Given the description of an element on the screen output the (x, y) to click on. 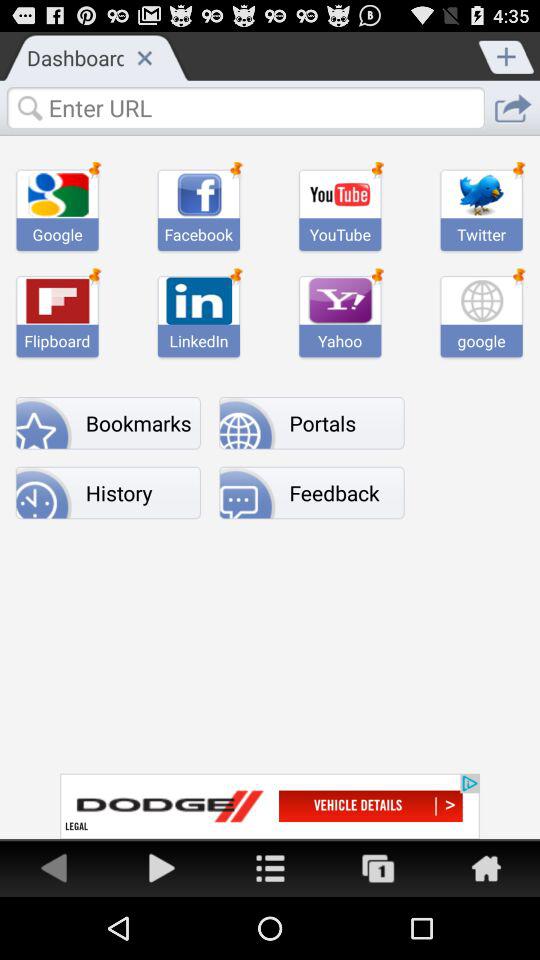
share link (270, 867)
